Given the description of an element on the screen output the (x, y) to click on. 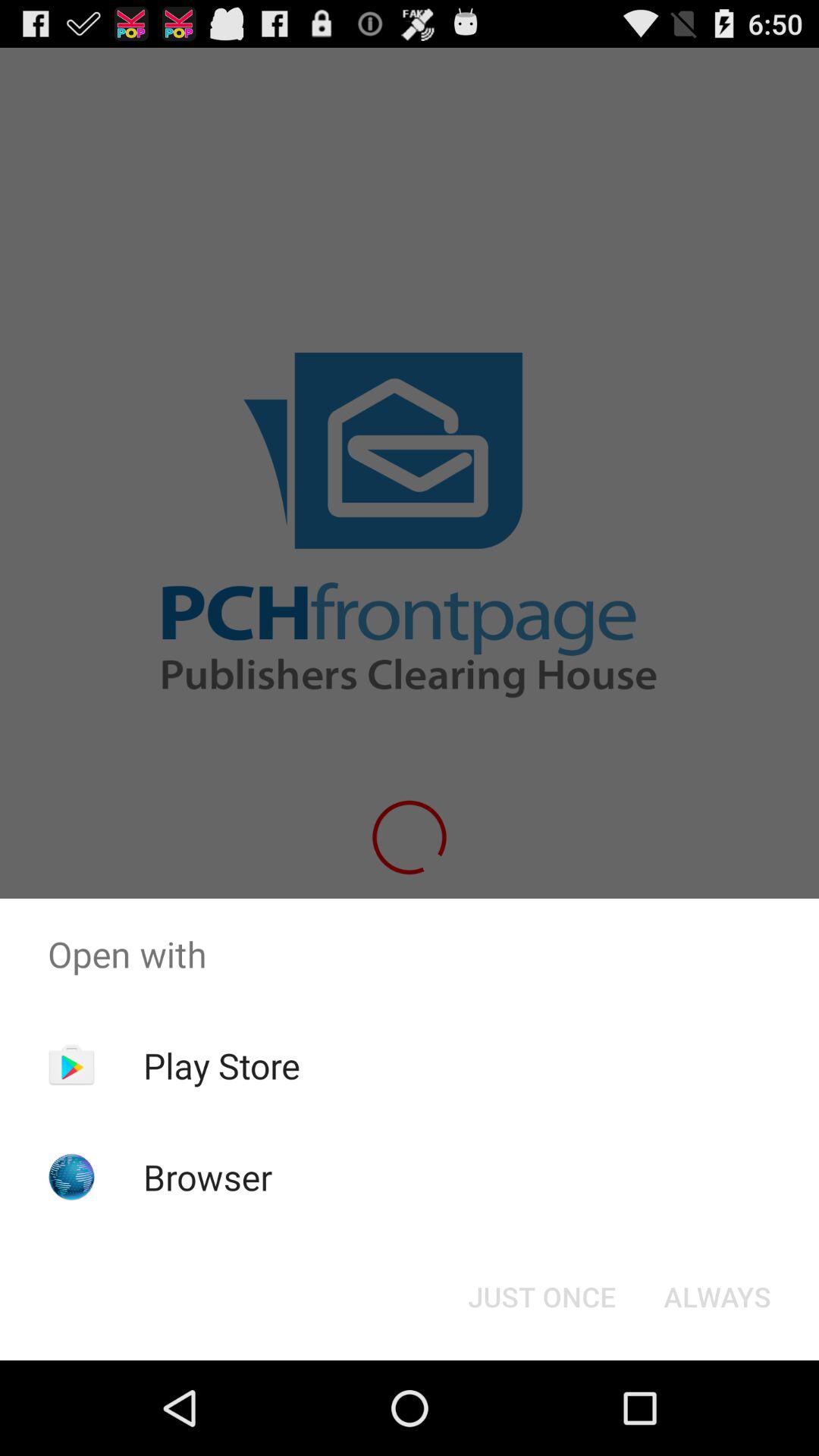
click the item to the right of just once (717, 1296)
